Given the description of an element on the screen output the (x, y) to click on. 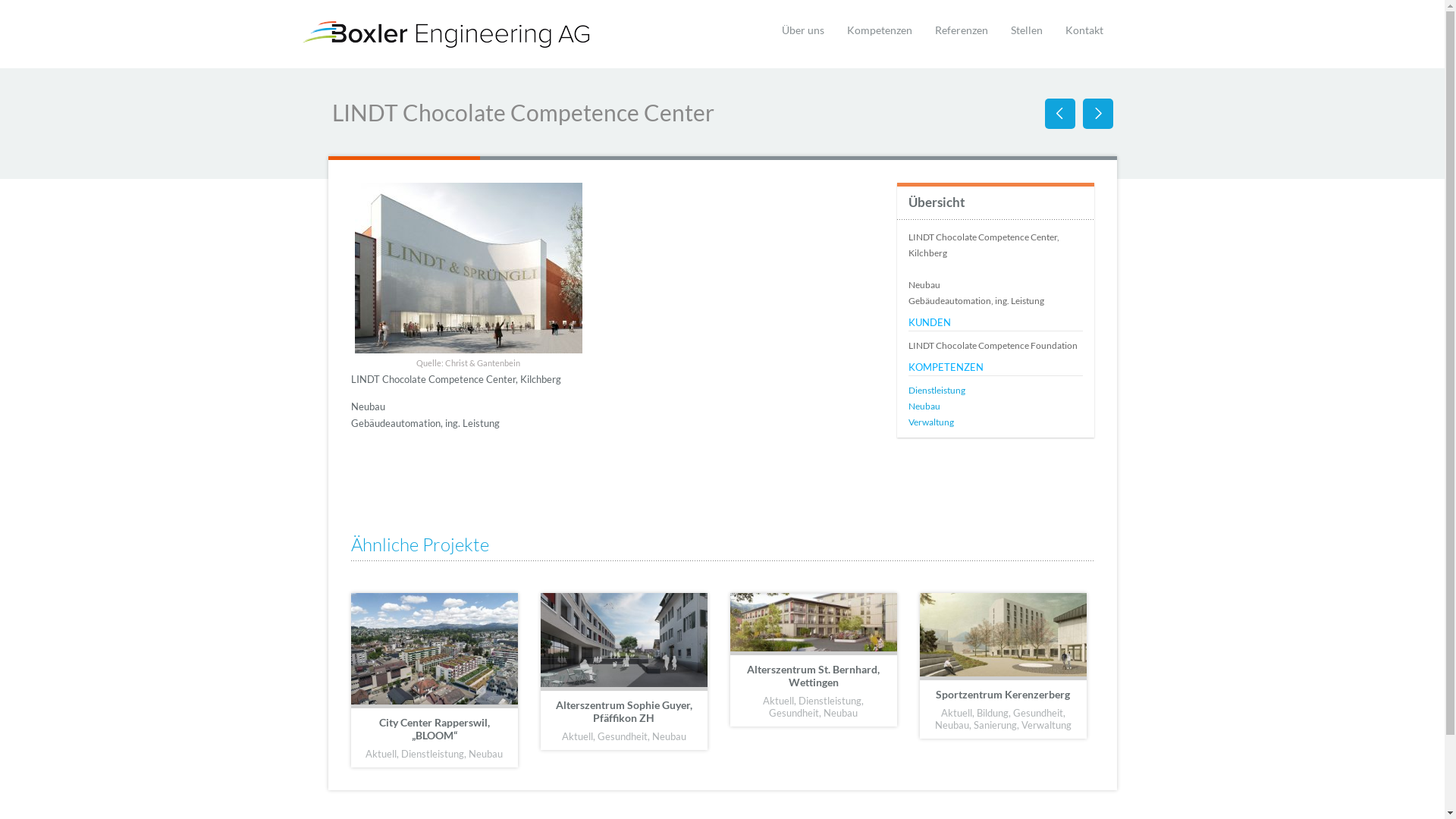
Alterszentrum St. Bernhard, Wettingen Element type: text (812, 675)
Kontakt Element type: text (1084, 30)
Verwaltung Element type: text (930, 421)
Dienstleistung Element type: text (936, 389)
Stellen Element type: text (1026, 30)
Neubau Element type: text (924, 405)
Kompetenzen Element type: text (879, 30)
Sportzentrum Kerenzerberg Element type: text (1002, 693)
Referenzen Element type: text (961, 30)
Permanent Link to Alterszentrum St. Bernhard, Wettingen Element type: hover (812, 624)
Permanent Link to Sportzentrum Kerenzerberg Element type: hover (1002, 636)
